Given the description of an element on the screen output the (x, y) to click on. 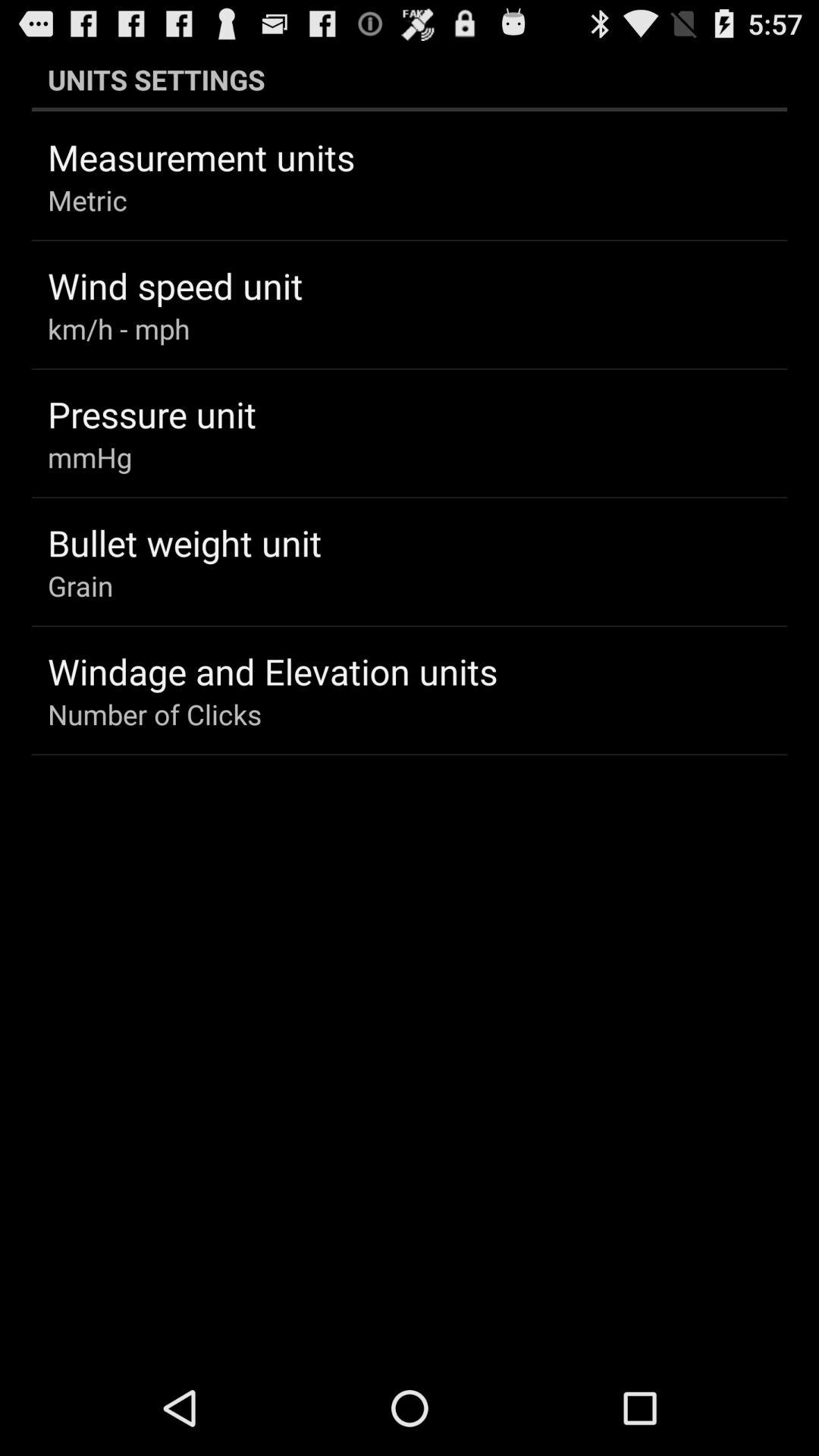
select item above windage and elevation app (80, 585)
